Given the description of an element on the screen output the (x, y) to click on. 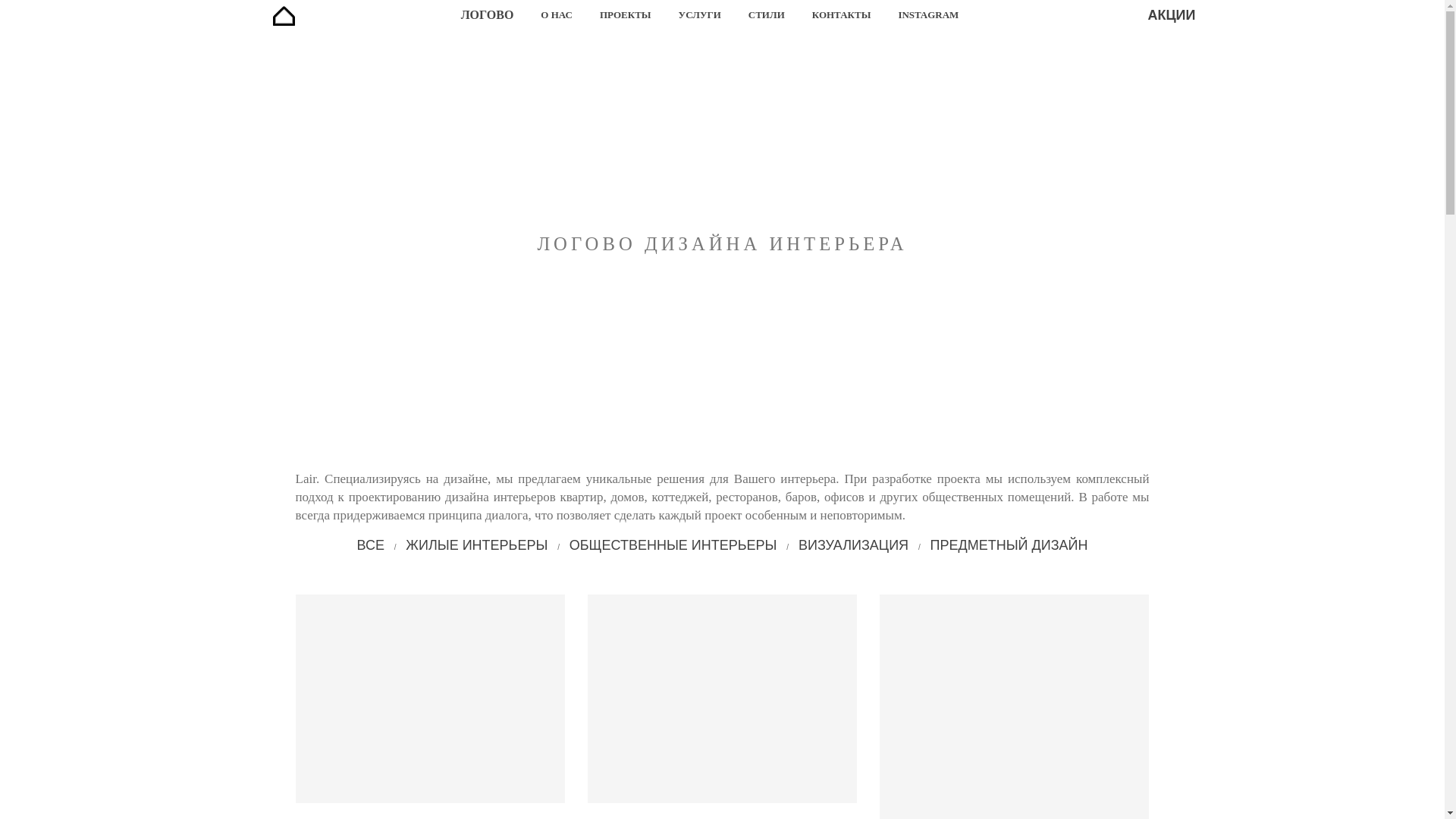
INSTAGRAM Element type: text (927, 15)
